Given the description of an element on the screen output the (x, y) to click on. 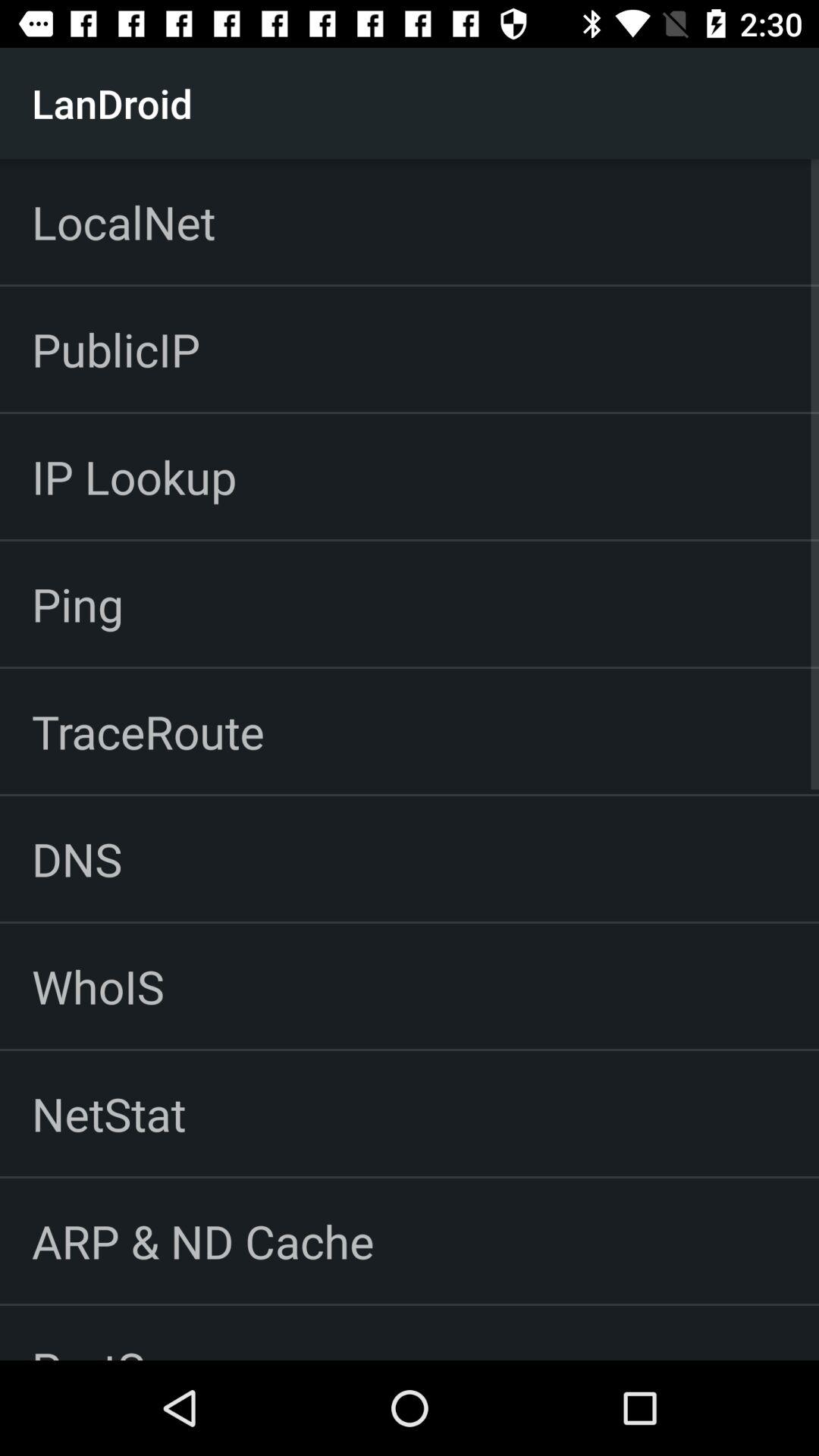
jump to ping (77, 603)
